Given the description of an element on the screen output the (x, y) to click on. 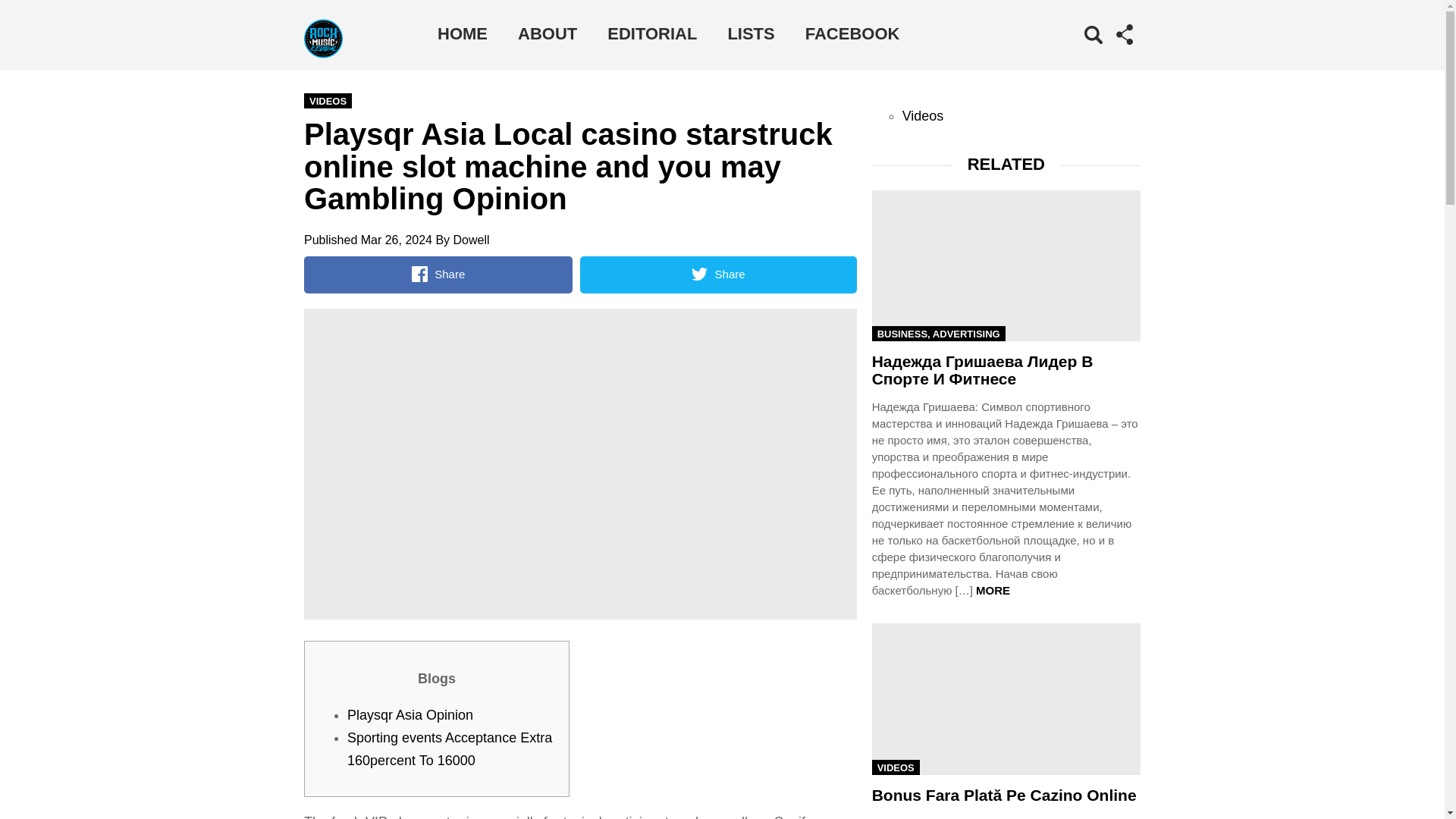
HOME (462, 33)
Videos (922, 115)
Search (1071, 55)
Share (717, 274)
MORE (992, 590)
VIDEOS (328, 100)
VIDEOS (896, 767)
Search (1071, 55)
Search (1071, 55)
BUSINESS, ADVERTISING (939, 333)
LISTS (750, 33)
Share (438, 274)
FACEBOOK (852, 33)
Dowell (470, 239)
Sporting events Acceptance Extra 160percent To 16000 (449, 749)
